Given the description of an element on the screen output the (x, y) to click on. 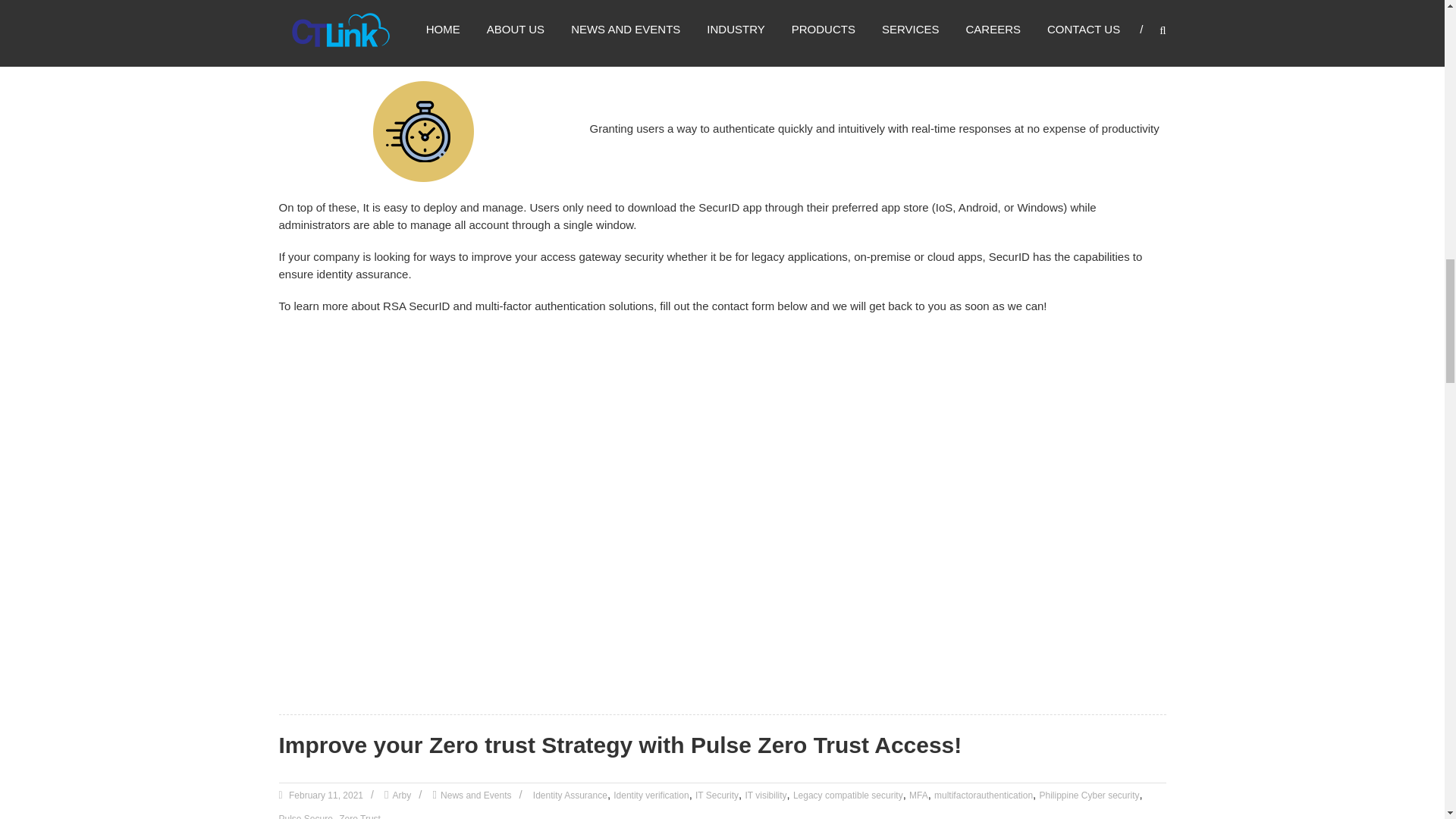
Arby (402, 795)
11:11 am (324, 795)
